Given the description of an element on the screen output the (x, y) to click on. 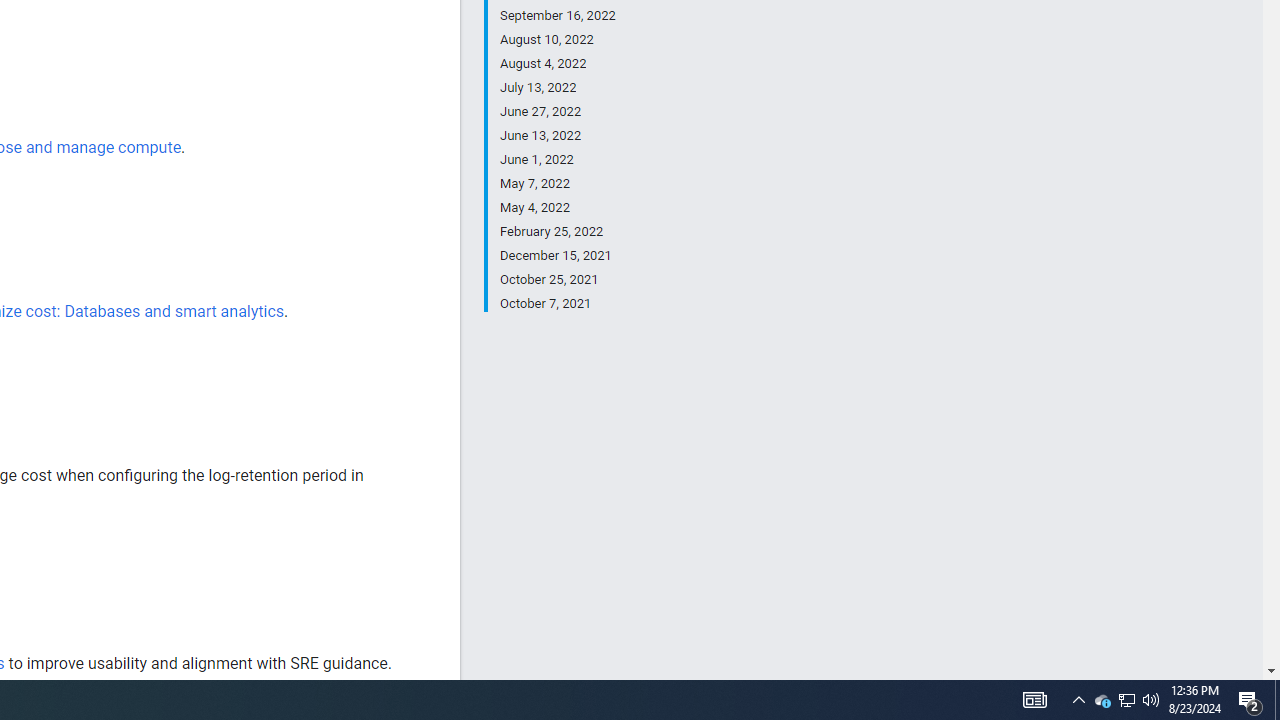
October 7, 2021 (557, 301)
August 10, 2022 (557, 39)
June 27, 2022 (557, 111)
May 7, 2022 (557, 183)
July 13, 2022 (557, 88)
October 25, 2021 (557, 279)
December 15, 2021 (557, 255)
June 13, 2022 (557, 135)
June 1, 2022 (557, 160)
August 4, 2022 (557, 63)
September 16, 2022 (557, 16)
February 25, 2022 (557, 232)
May 4, 2022 (557, 207)
